Given the description of an element on the screen output the (x, y) to click on. 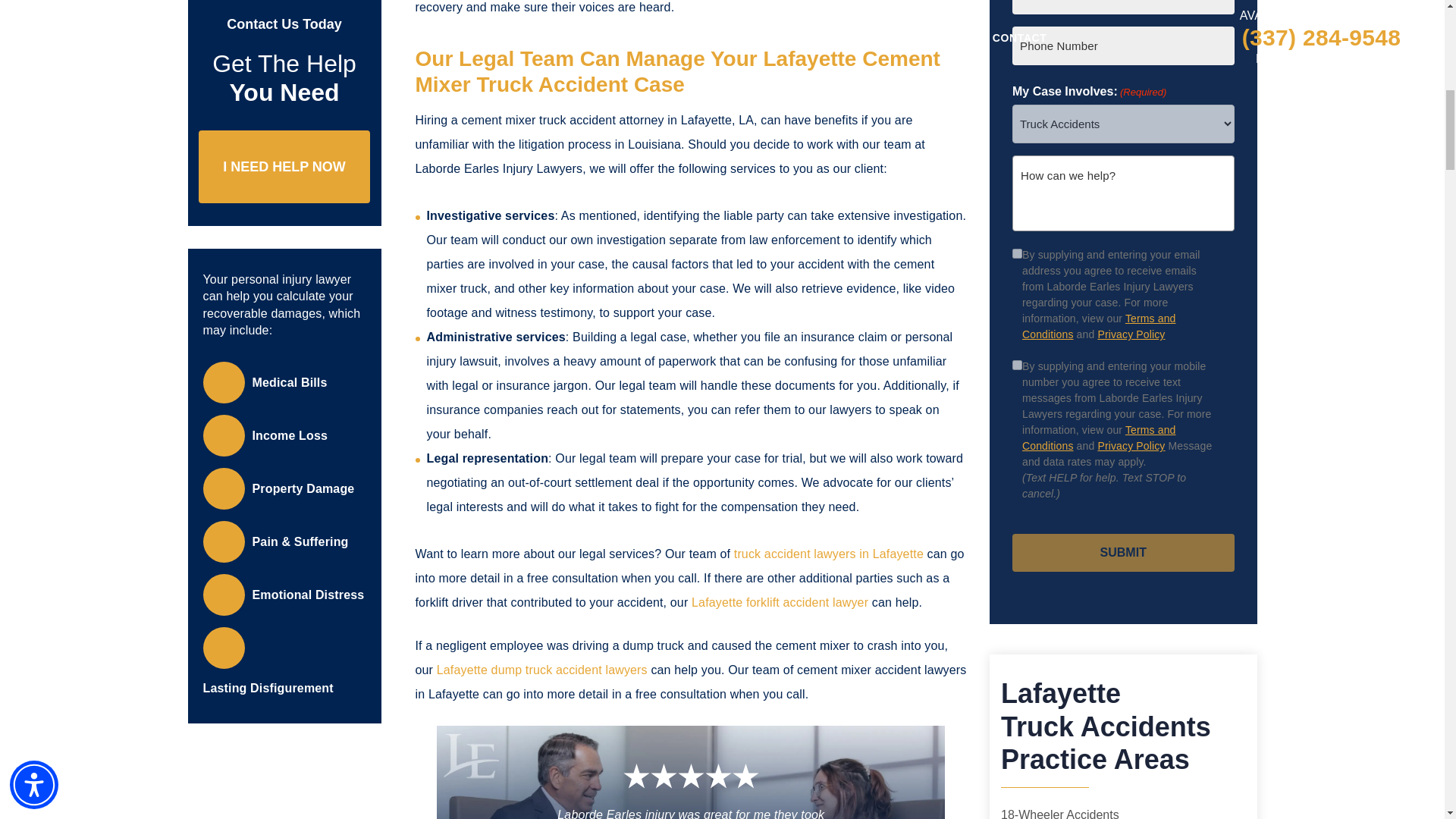
Submit (1122, 552)
